Given the description of an element on the screen output the (x, y) to click on. 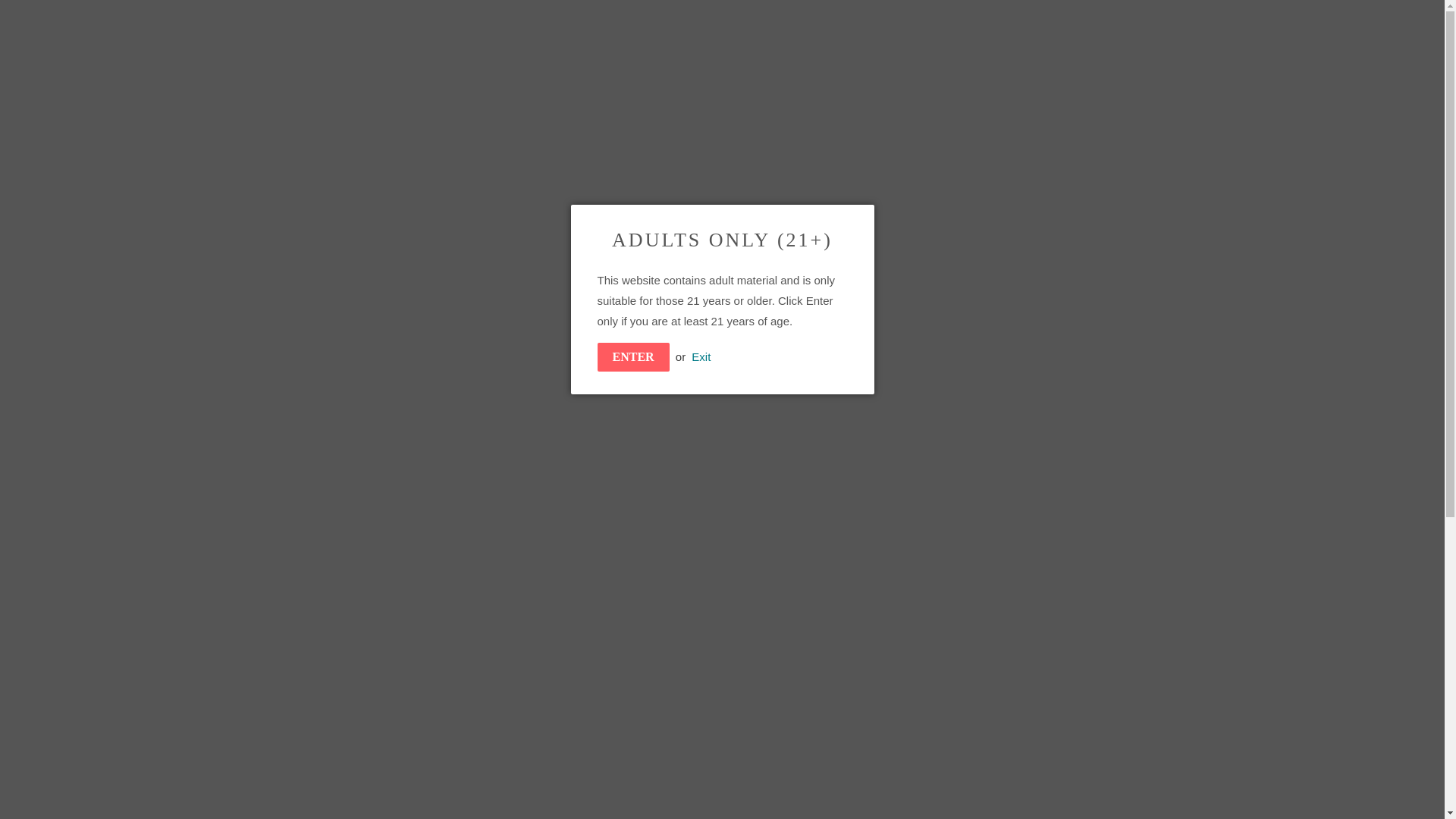
NEW ARRIVALS (493, 19)
Peter Muller (913, 710)
Pendants (861, 710)
SIGN IN (1094, 19)
My Account  (1094, 19)
PresidentialSS (288, 199)
PresidentialSS (352, 84)
0 (1155, 19)
Send (978, 423)
Products (335, 199)
